Given the description of an element on the screen output the (x, y) to click on. 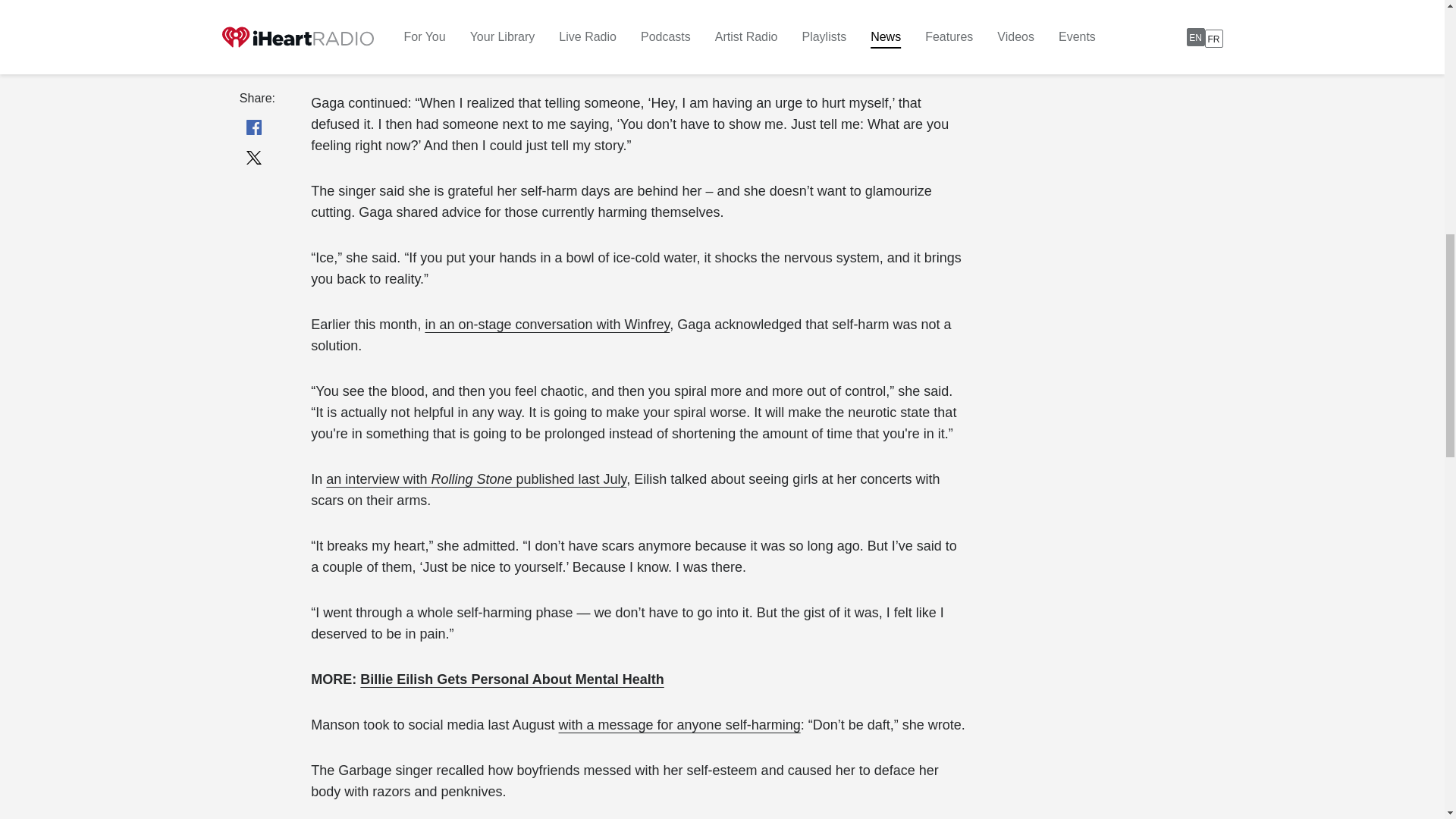
Billie Eilish Gets Personal About Mental Health (511, 679)
an interview with Rolling Stone published last July (476, 478)
with a message for anyone self-harming (679, 724)
an interview published in the December issue of Elle (611, 11)
in an on-stage conversation with Winfrey (547, 324)
